Given the description of an element on the screen output the (x, y) to click on. 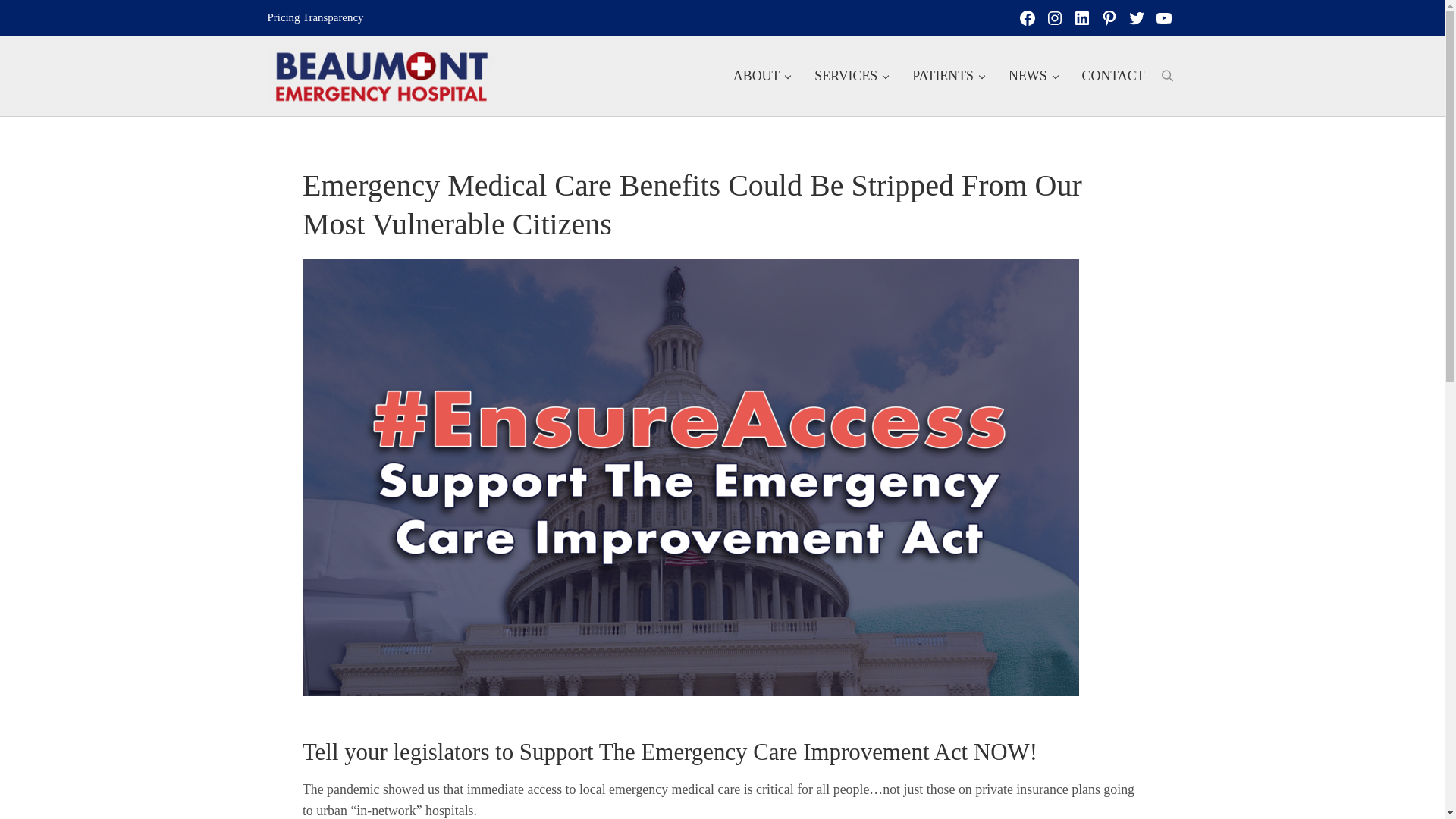
PATIENTS (947, 76)
ABOUT (761, 76)
Twitter (1136, 17)
Pinterest (1108, 17)
Instagram (1054, 17)
SERVICES (850, 76)
YouTube (1163, 17)
Facebook (1027, 17)
LinkedIn (1080, 17)
Pricing Transparency (314, 17)
NEWS (1032, 76)
